Given the description of an element on the screen output the (x, y) to click on. 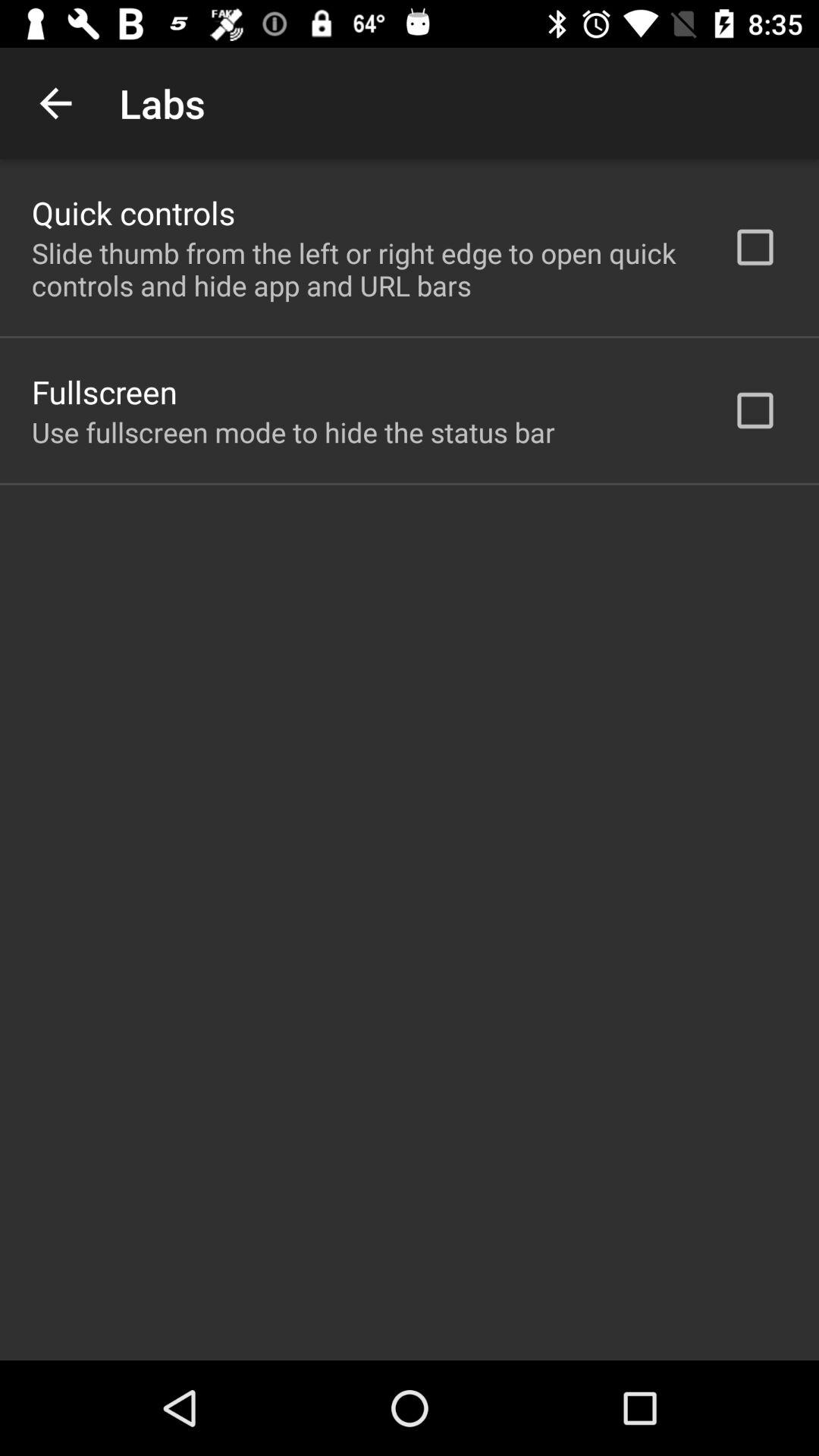
turn on the slide thumb from icon (361, 269)
